Given the description of an element on the screen output the (x, y) to click on. 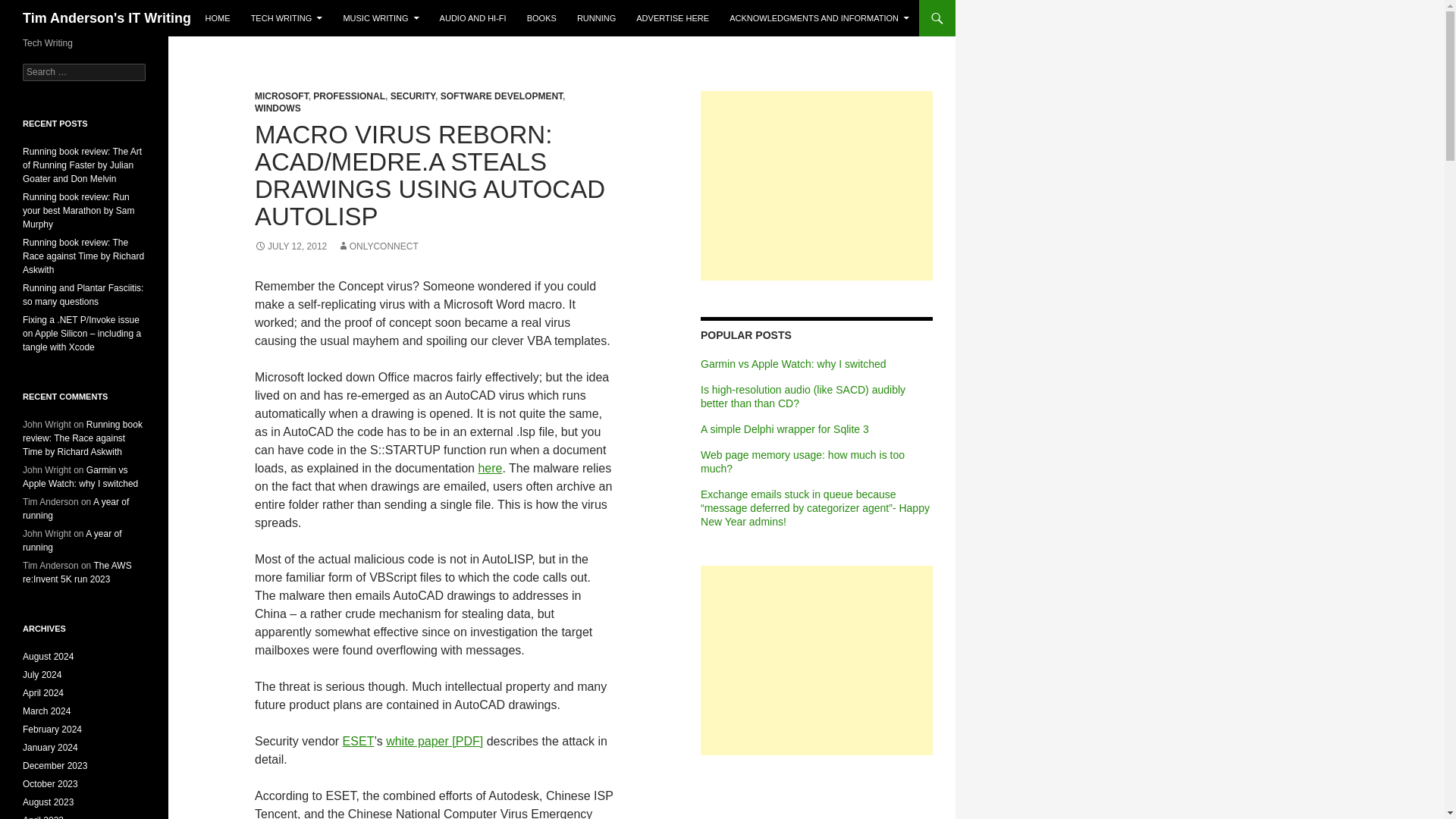
ESET (358, 740)
MUSIC WRITING (380, 18)
PROFESSIONAL (349, 95)
ADVERTISE HERE (672, 18)
TECH WRITING (286, 18)
MICROSOFT (281, 95)
RUNNING (595, 18)
SECURITY (412, 95)
Tim Anderson's IT Writing (106, 18)
SOFTWARE DEVELOPMENT (501, 95)
